Given the description of an element on the screen output the (x, y) to click on. 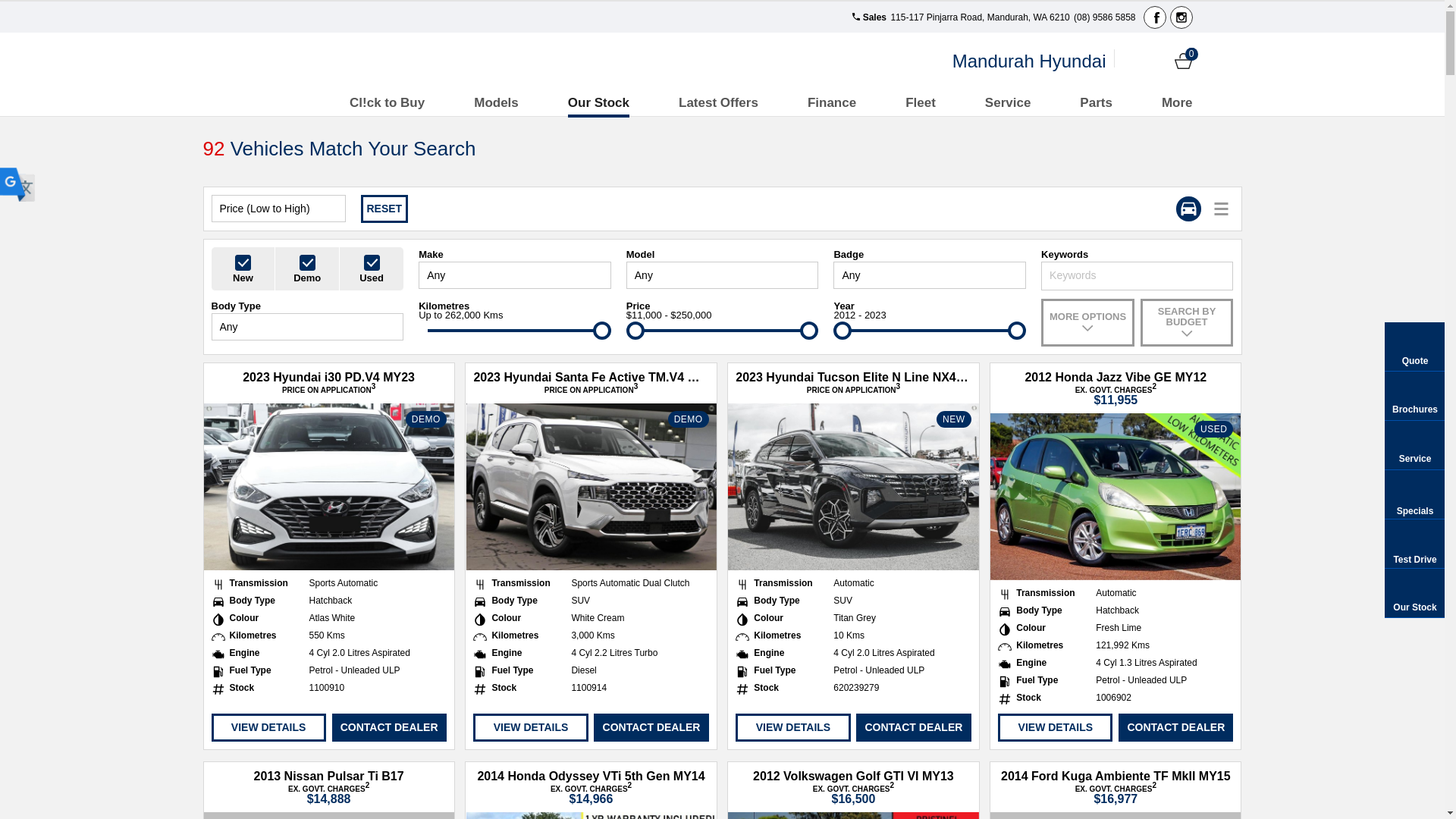
CONTACT DEALER Element type: text (389, 727)
Cl!ck to Buy Element type: text (386, 102)
(08) 9586 5858 Element type: text (1103, 17)
EX. GOVT. CHARGES2
$14,966 Element type: text (590, 793)
115-117 Pinjarra Road, Mandurah, WA 6210 Element type: text (978, 17)
CONTACT DEALER Element type: text (650, 727)
Login Element type: text (1131, 60)
PRICE ON APPLICATION3 Element type: text (853, 389)
PRICE ON APPLICATION3 Element type: text (590, 389)
EX. GOVT. CHARGES2
$16,500 Element type: text (853, 793)
VIEW DETAILS Element type: text (792, 727)
NEW Element type: text (853, 486)
DEMO Element type: text (328, 486)
Models Element type: text (495, 102)
RESET Element type: text (384, 208)
Latest Offers Element type: text (718, 102)
VIEW DETAILS Element type: text (1054, 727)
Signup Element type: text (1157, 60)
PRICE ON APPLICATION3 Element type: text (328, 389)
Instagram Element type: hover (1180, 17)
VIEW DETAILS Element type: text (530, 727)
EX. GOVT. CHARGES2
$16,977 Element type: text (1115, 793)
EX. GOVT. CHARGES2
$11,955 Element type: text (1115, 394)
Fleet Element type: text (920, 102)
CONTACT DEALER Element type: text (1175, 727)
Cart
0 Element type: text (1182, 61)
MORE OPTIONS Element type: text (1087, 322)
Service Element type: text (1008, 102)
CONTACT DEALER Element type: text (913, 727)
Facebook Element type: hover (1154, 17)
DEMO Element type: text (590, 486)
Hyundai Motor Company Element type: text (313, 60)
Our Stock Element type: text (598, 102)
EX. GOVT. CHARGES2
$14,888 Element type: text (328, 793)
Finance Element type: text (831, 102)
Parts Element type: text (1095, 102)
SEARCH BY BUDGET Element type: text (1186, 322)
VIEW DETAILS Element type: text (267, 727)
More Element type: text (1176, 102)
USED Element type: text (1115, 496)
